Given the description of an element on the screen output the (x, y) to click on. 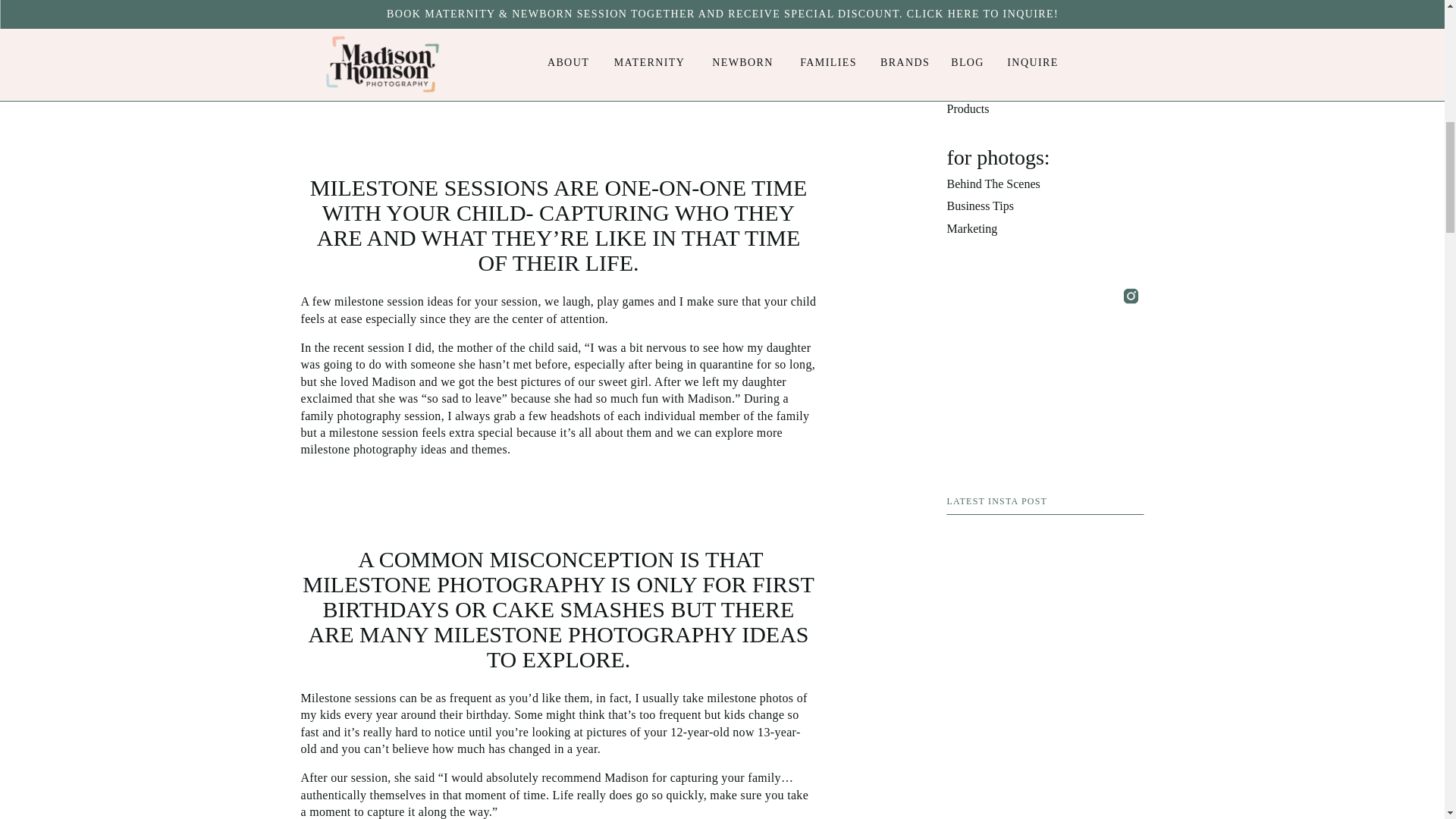
Marketing (1044, 229)
Behind The Scenes (1044, 185)
Photo Tips (1044, 20)
Gift Guide (1044, 65)
Products (1044, 109)
LATEST INSTA POST (1044, 501)
Shop Local (1044, 86)
Outfit Guide (1044, 42)
Business Tips (1044, 207)
